Given the description of an element on the screen output the (x, y) to click on. 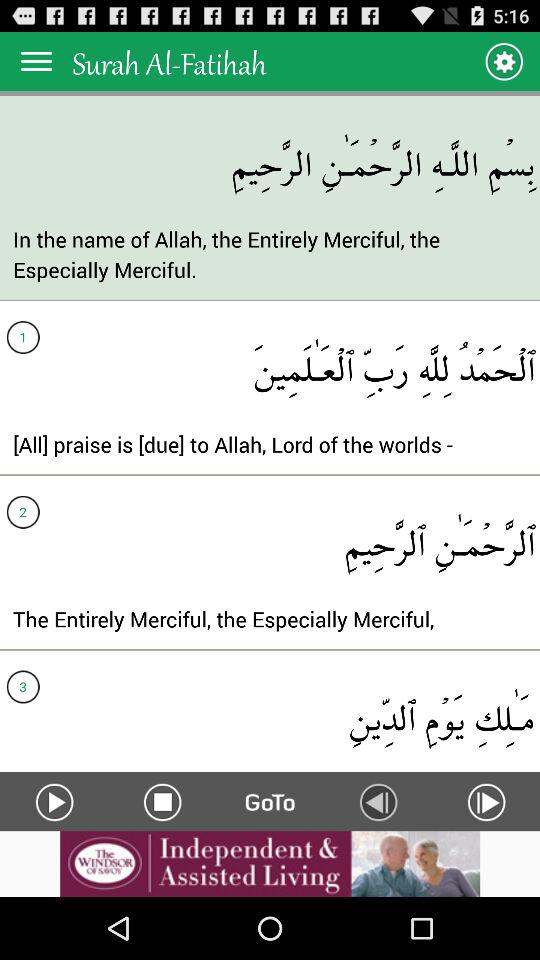
menu button (36, 60)
